Given the description of an element on the screen output the (x, y) to click on. 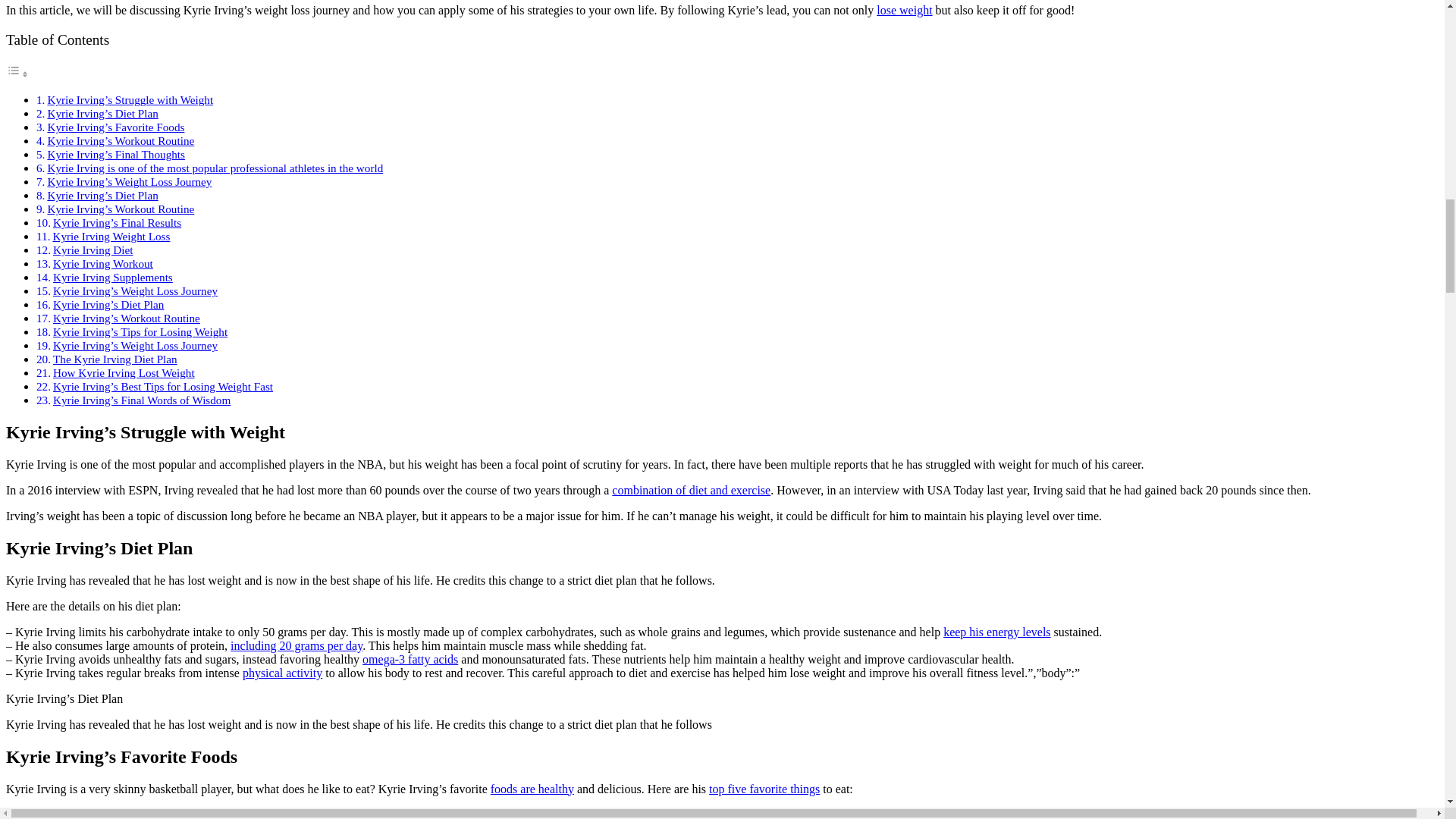
Kyrie Irving Weight Loss (111, 236)
Kyrie Irving Supplements (112, 277)
Kyrie Irving Weight Loss (111, 236)
Kyrie Irving Diet (92, 249)
Kyrie Irving Workout (102, 263)
Kyrie Irving Diet (92, 249)
lose weight (903, 10)
Kyrie Irving Workout (102, 263)
